Given the description of an element on the screen output the (x, y) to click on. 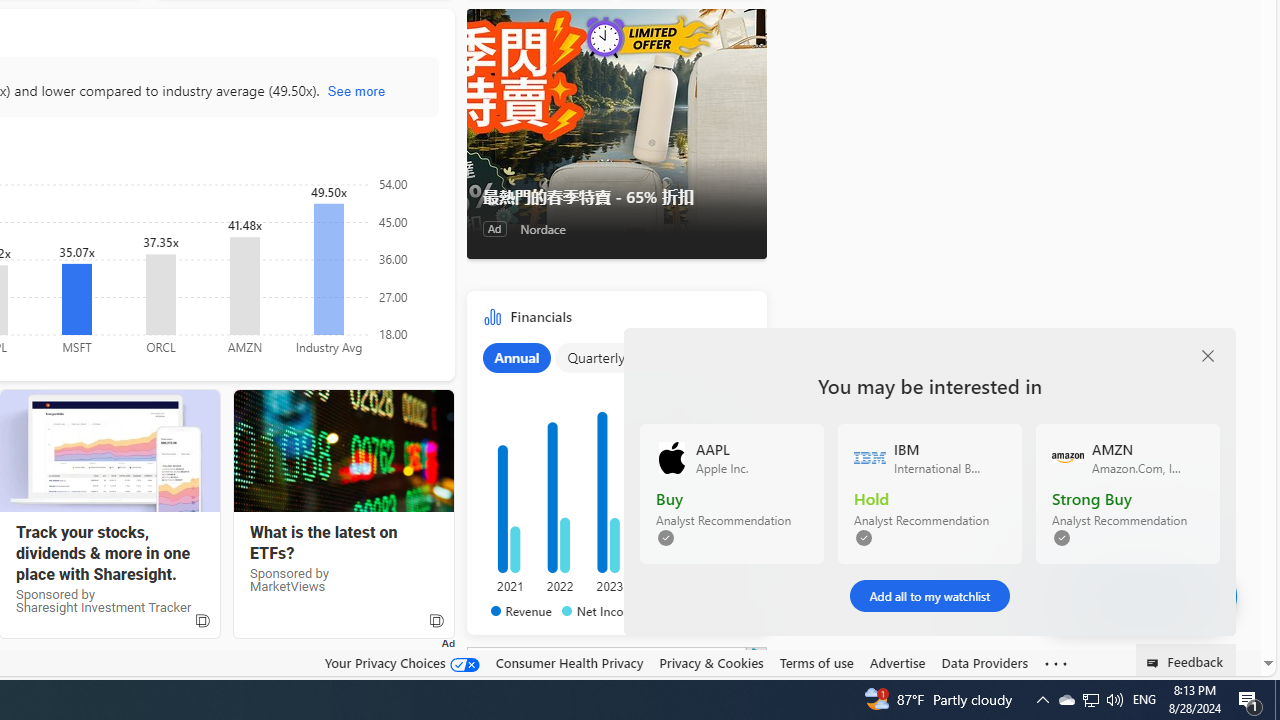
Class: qc-adchoices-link top-right  (756, 654)
Feedback (1186, 659)
Ad (493, 228)
Class: cwt-icon-vector (1174, 596)
Class: qc-adchoices-icon (758, 654)
Financials (616, 468)
Advertise (897, 662)
Privacy & Cookies (711, 663)
Data Providers (983, 662)
Terms of use (816, 663)
Consumer Health Privacy (569, 663)
MarketViews (343, 451)
Advertise (897, 663)
Terms of use (816, 662)
Privacy & Cookies (711, 662)
